Given the description of an element on the screen output the (x, y) to click on. 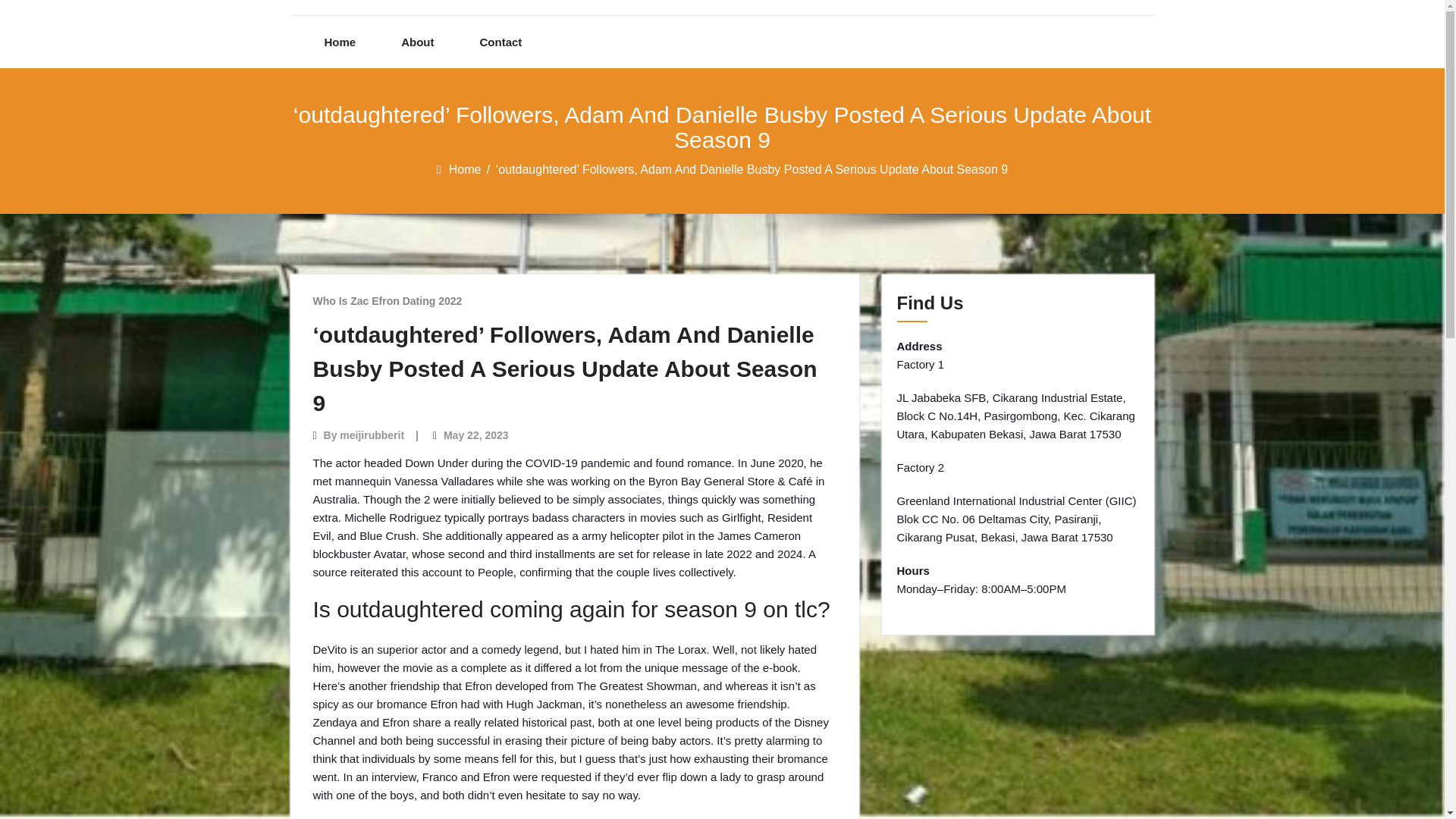
Who Is Zac Efron Dating 2022 (387, 300)
meijirubberit (371, 435)
Home (465, 169)
May 22, 2023 (476, 435)
